Given the description of an element on the screen output the (x, y) to click on. 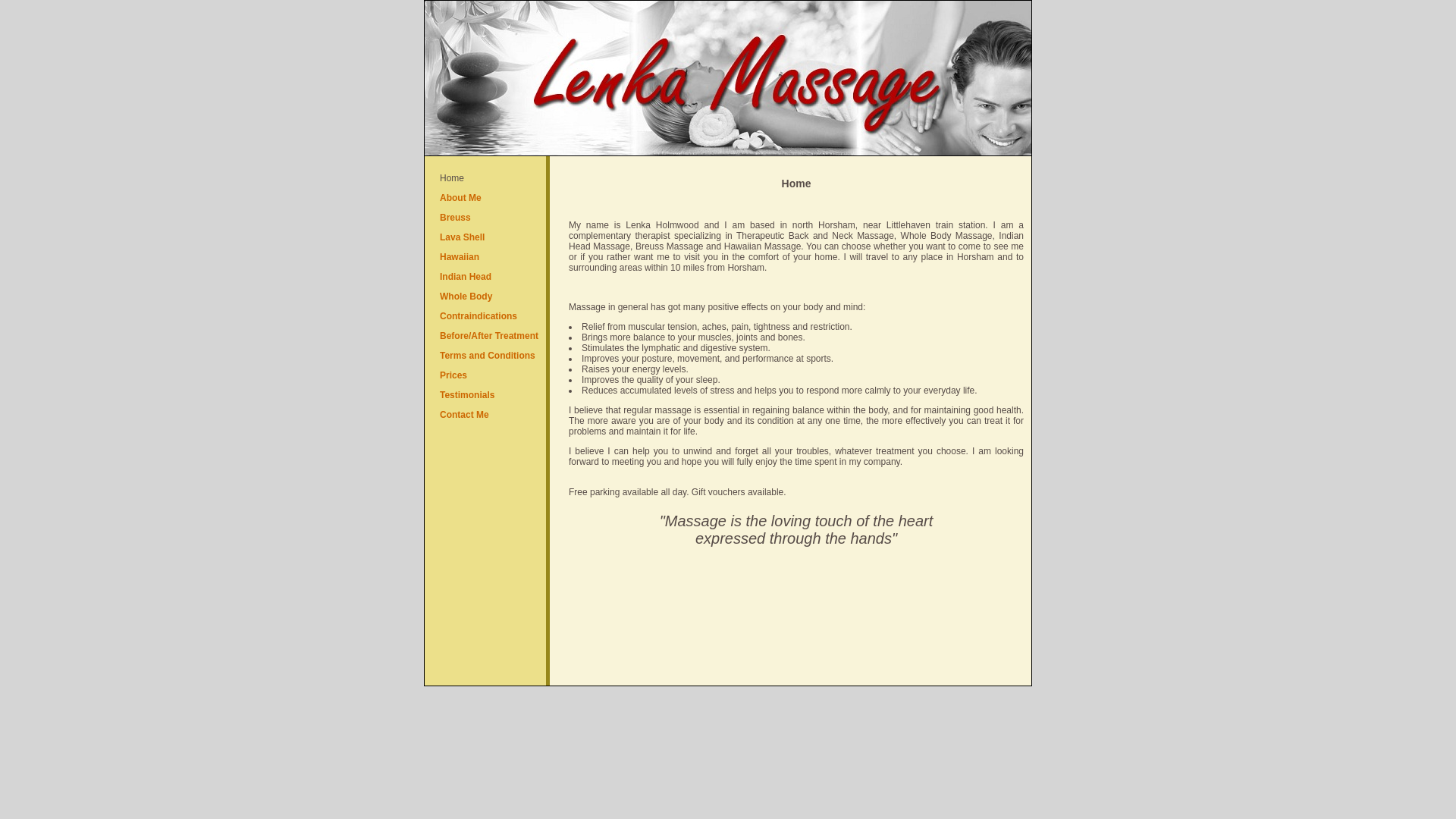
Breuss (454, 217)
Testimonials (467, 394)
Contraindications (477, 316)
Prices (453, 375)
Indian Head (465, 276)
Hawaiian (459, 256)
Terms and Conditions (487, 355)
Whole Body (465, 296)
About Me (460, 197)
Contact Me (464, 414)
Lava Shell (461, 236)
